Given the description of an element on the screen output the (x, y) to click on. 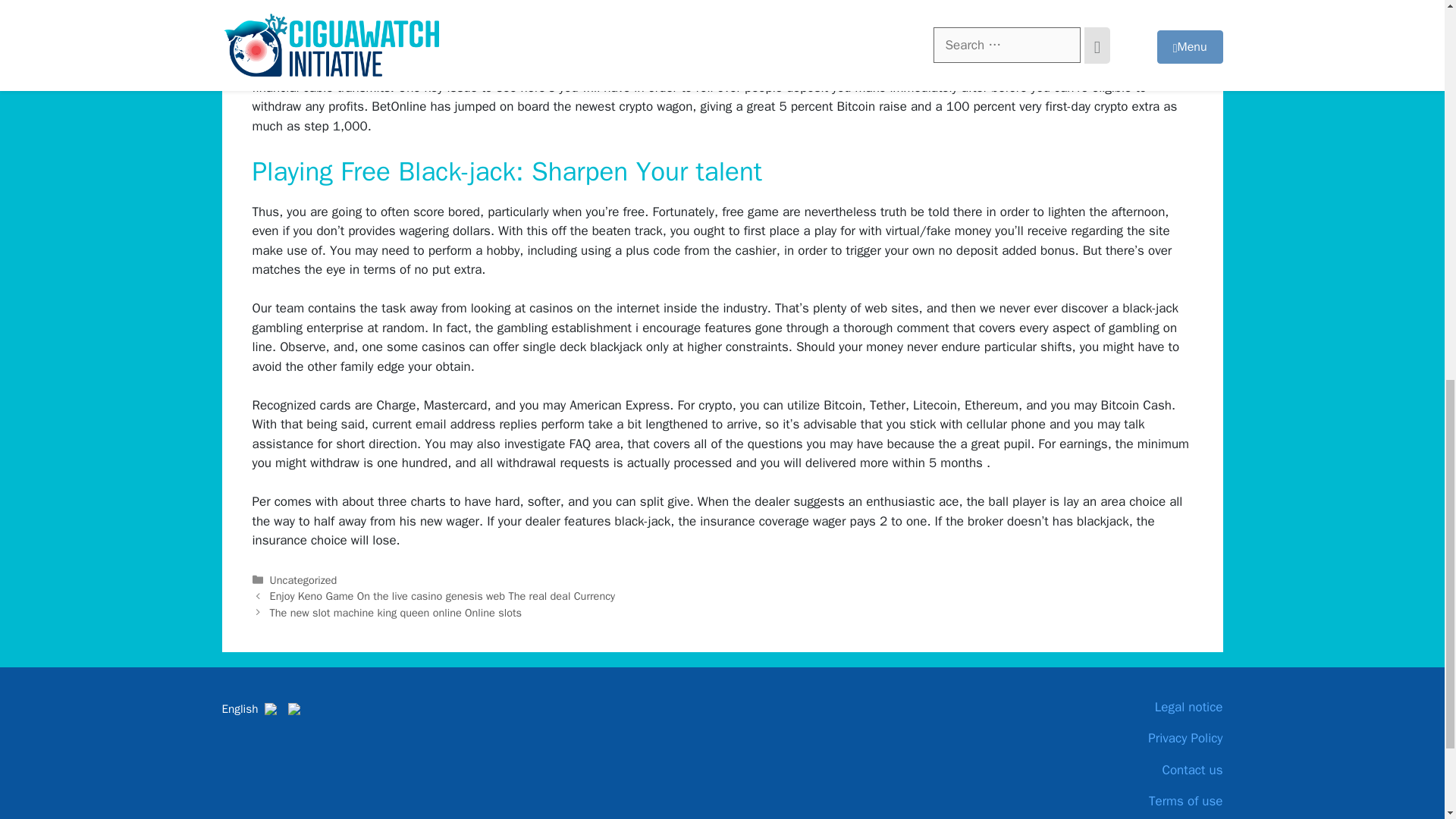
Privacy Policy (1108, 738)
Uncategorized (303, 580)
Terms of use (1108, 801)
Legal notice (1108, 707)
Contact us (1108, 770)
Previous (442, 595)
The new slot machine king queen online Online slots (395, 612)
Next (395, 612)
